Given the description of an element on the screen output the (x, y) to click on. 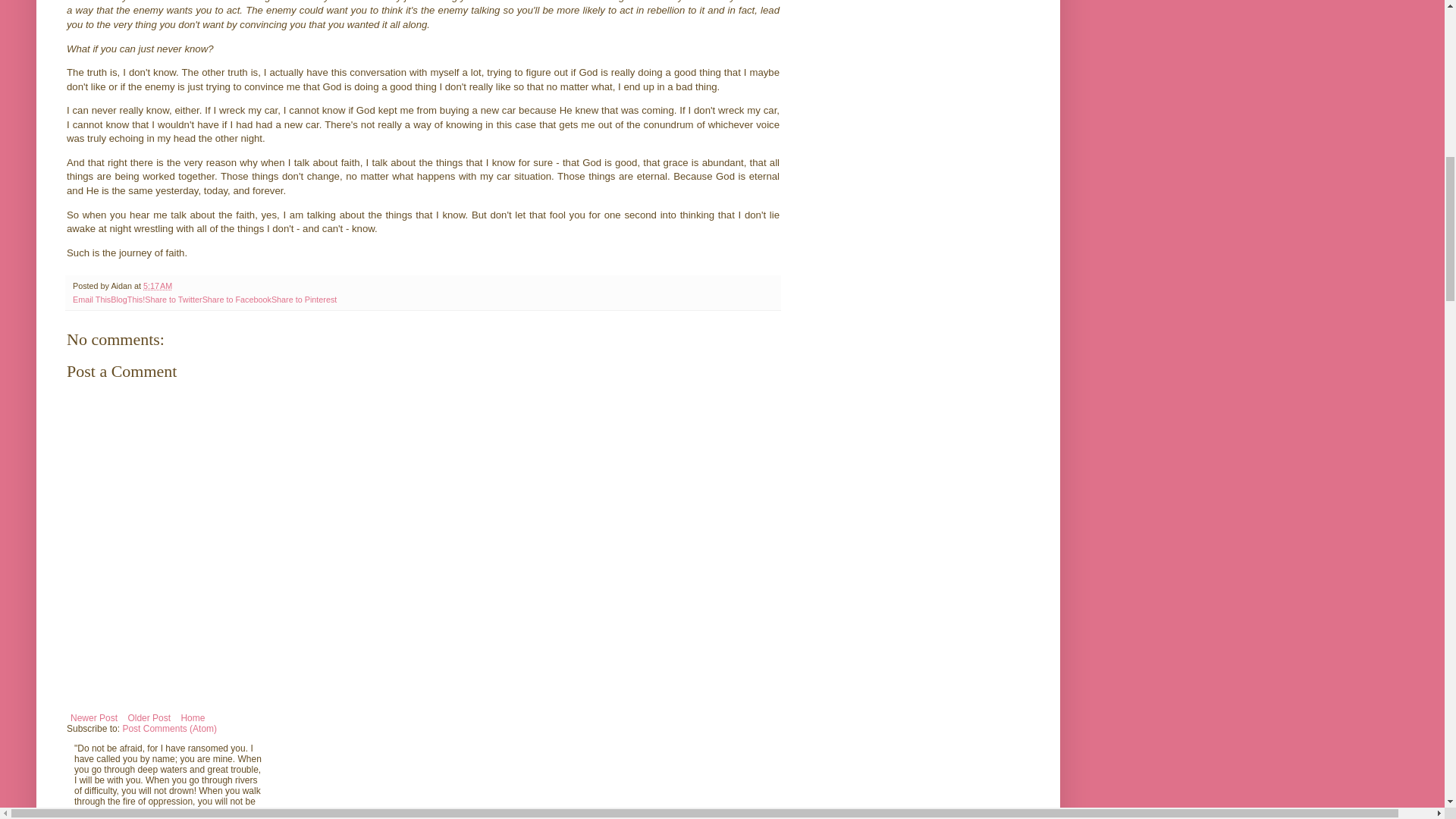
Home (192, 718)
Older Post (148, 718)
Email Post (180, 285)
Older Post (148, 718)
permanent link (156, 285)
Newer Post (93, 718)
Email This (91, 298)
Newer Post (93, 718)
Share to Twitter (173, 298)
Share to Facebook (236, 298)
Share to Twitter (173, 298)
BlogThis! (127, 298)
BlogThis! (127, 298)
Share to Pinterest (303, 298)
